Given the description of an element on the screen output the (x, y) to click on. 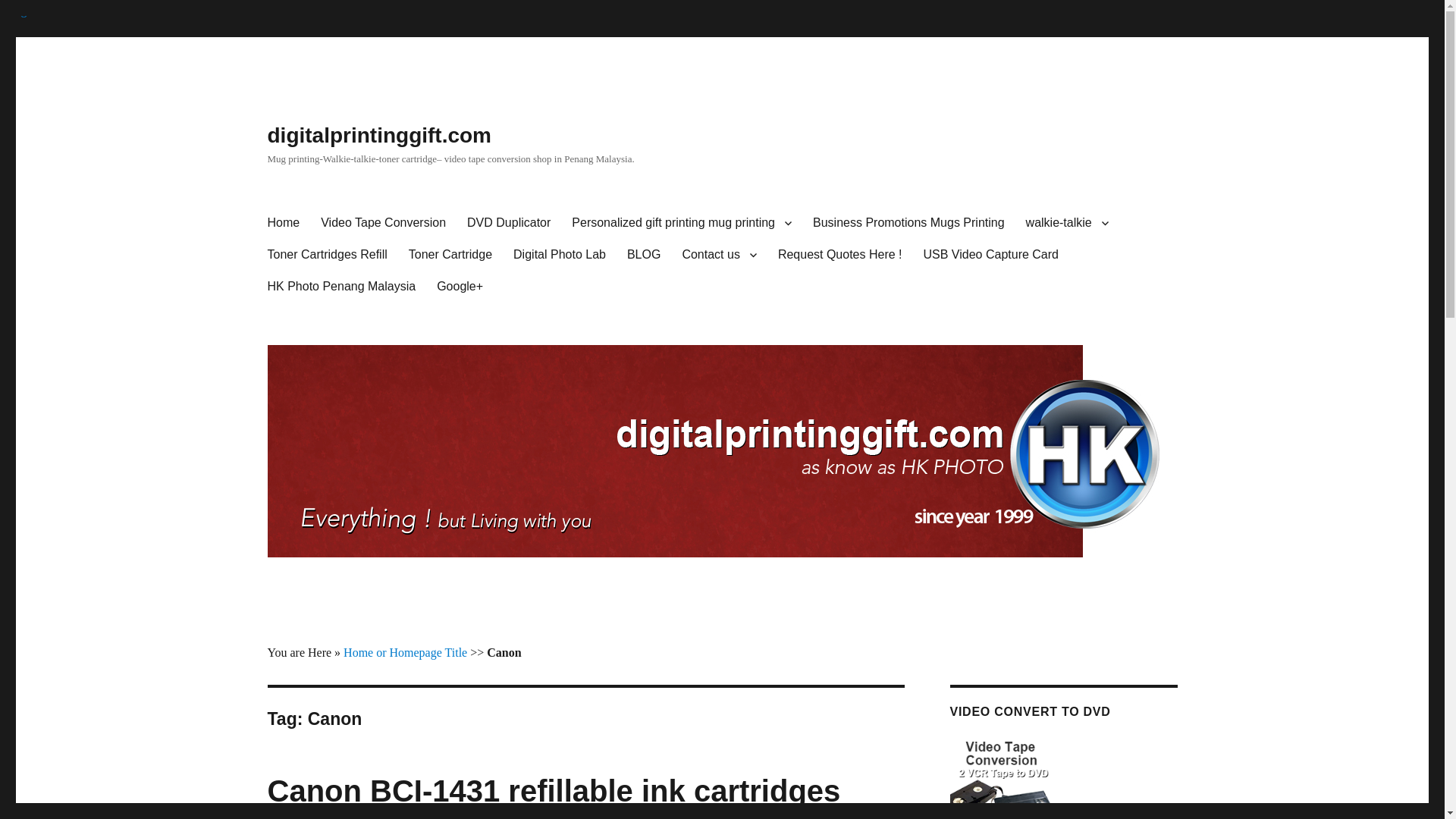
BLOG (643, 255)
Video Tape Conversion (383, 223)
HK Photo Penang Malaysia (341, 286)
Blogs (643, 255)
Your One Stop Experts Personalized Gift Printing Shop (681, 223)
Canon BCI-1431 refillable ink cartridges (553, 790)
Request Quotes Here ! (839, 255)
Contact us (719, 255)
DVD Duplicator (508, 223)
Compatible Toner Cartridge (449, 255)
Yanton Walkie-talkie retailers Penang Malaysia (1066, 223)
Business Promotions Mugs Printing (908, 223)
Home (283, 223)
contact us (719, 255)
Home or Homepage Title (405, 652)
